Given the description of an element on the screen output the (x, y) to click on. 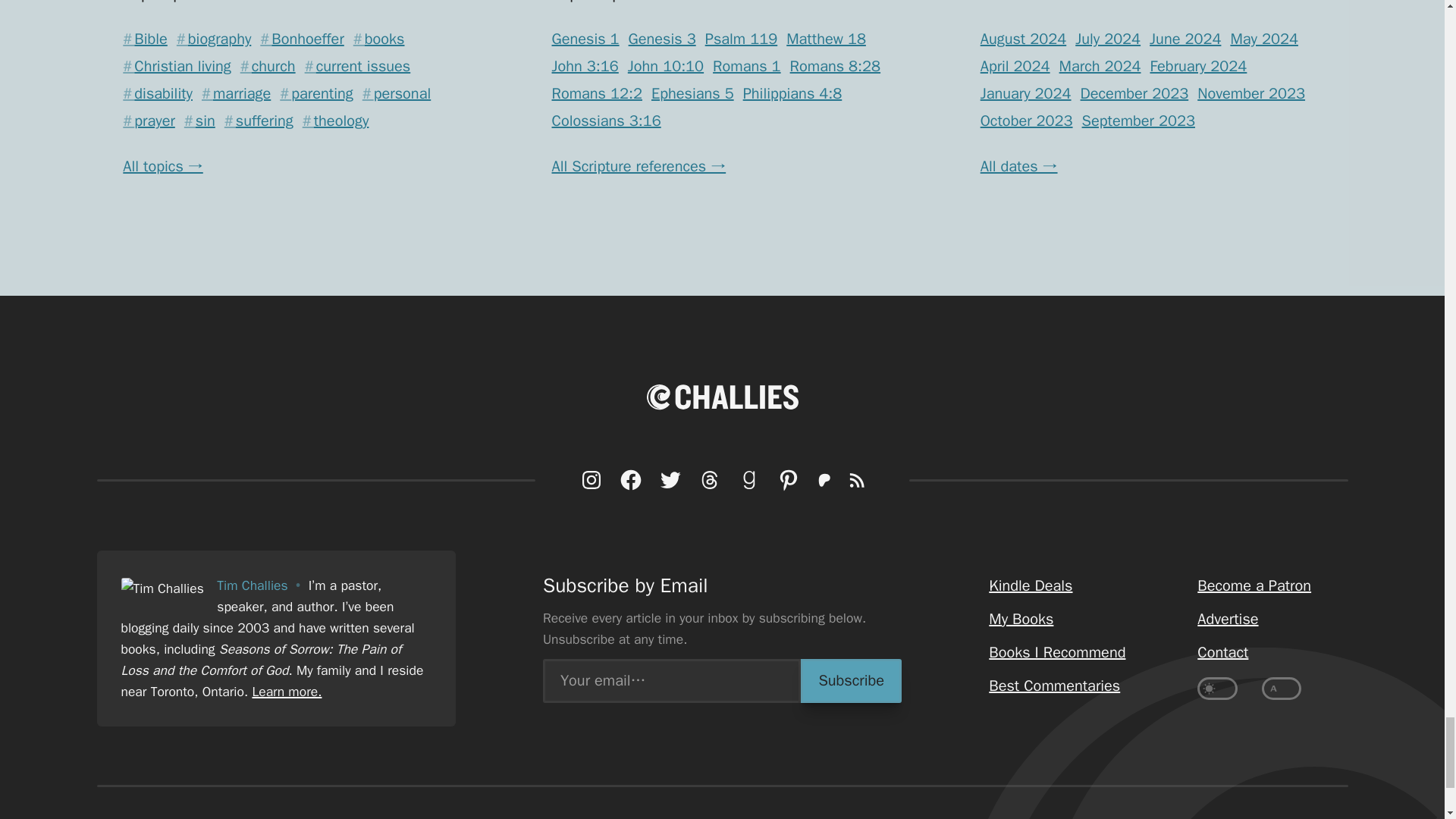
Challies logo (721, 396)
Subscribe (850, 680)
on (1281, 689)
on (1216, 689)
